Given the description of an element on the screen output the (x, y) to click on. 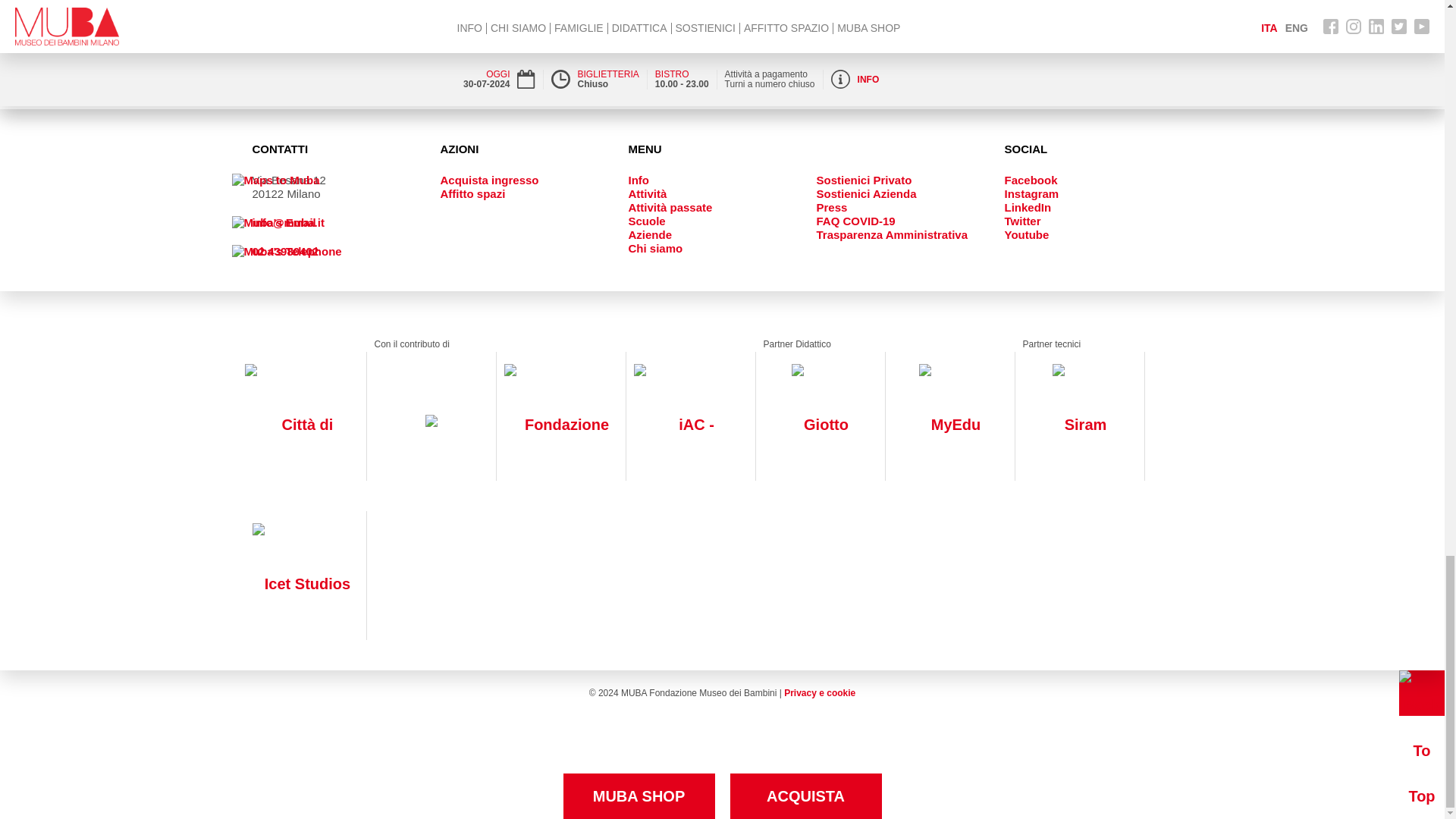
ISCRIVITI (1131, 9)
ISCRIVITI (630, 9)
ISCRIVITI (630, 9)
ISCRIVITI (1131, 9)
